Given the description of an element on the screen output the (x, y) to click on. 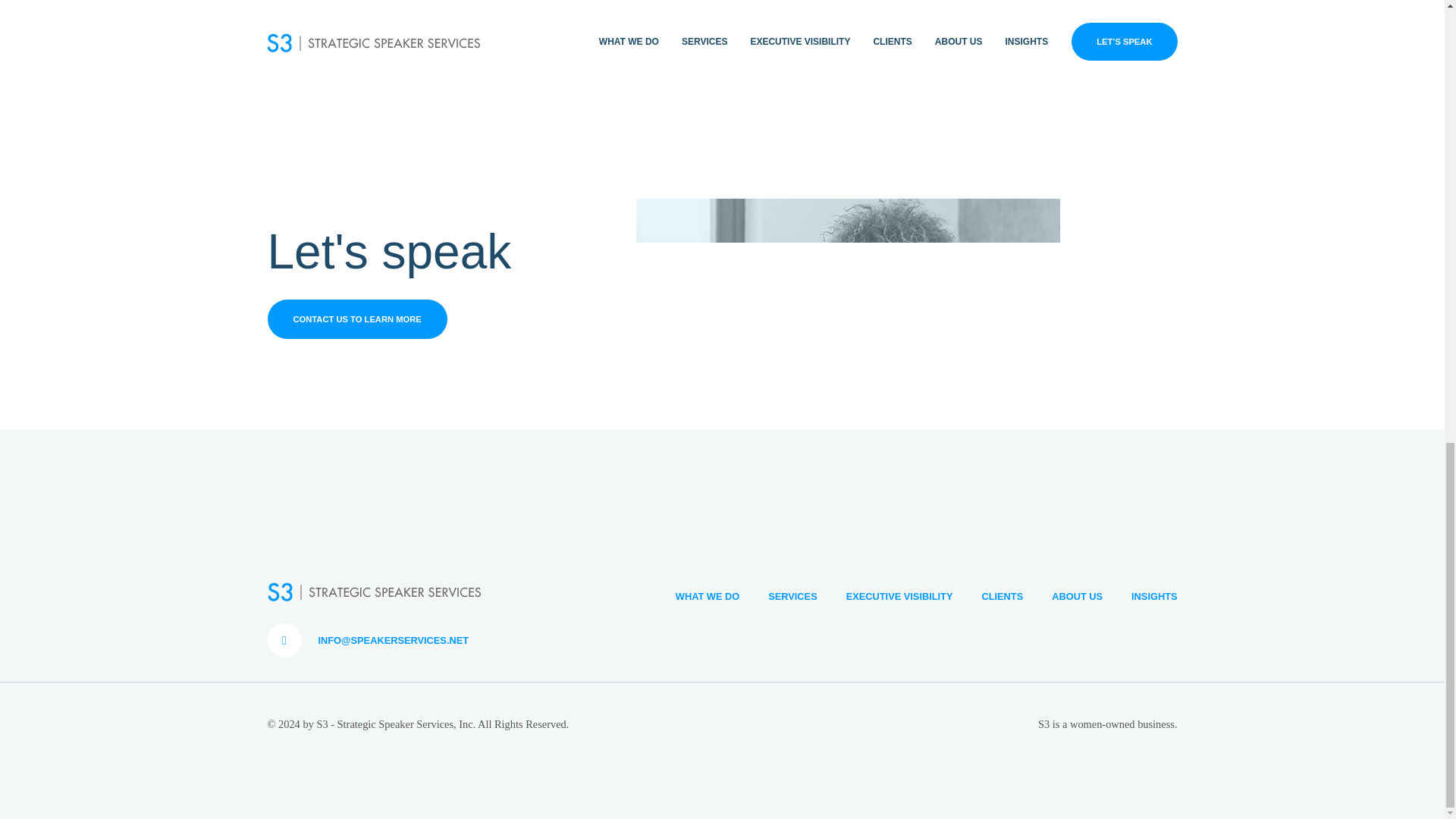
Clients (987, 595)
Services (777, 595)
EXECUTIVE VISIBILITY (884, 595)
ABOUT US (1062, 595)
INSIGHTS (1139, 595)
CLIENTS (987, 595)
CONTACT US TO LEARN MORE (356, 319)
About us (1062, 595)
What we do (692, 595)
WHAT WE DO (692, 595)
